Given the description of an element on the screen output the (x, y) to click on. 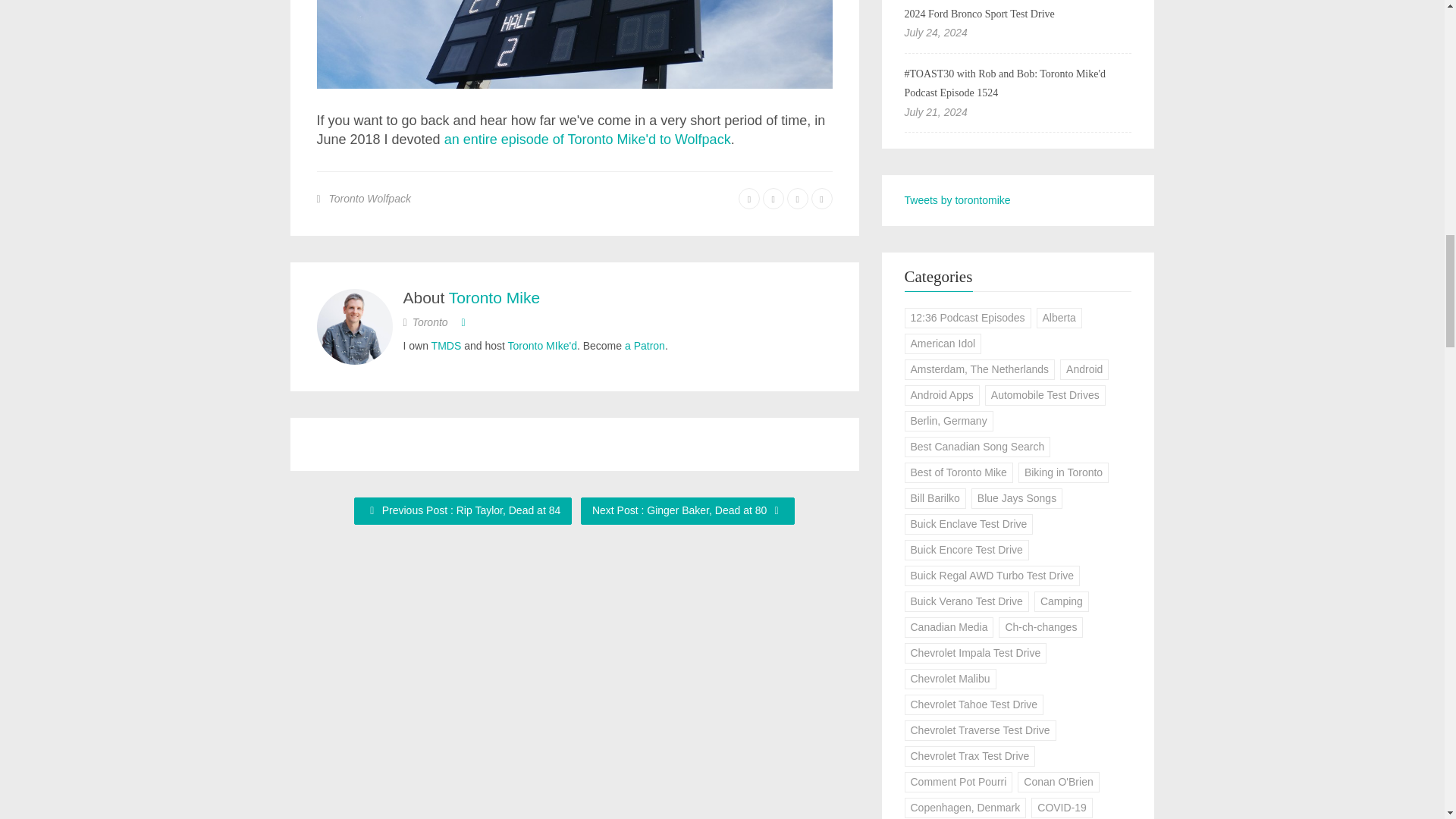
Buick Encore Test Drive (965, 549)
Chevrolet Trax Test Drive (969, 756)
Copenhagen, Denmark (965, 807)
12:36 Podcast Episodes (967, 317)
Conan O'Brien (1058, 782)
American Idol (942, 343)
Previous Post : Rip Taylor, Dead at 84 (462, 510)
Best of Toronto Mike (957, 472)
Chevrolet Malibu (949, 679)
Berlin, Germany (948, 421)
Best Canadian Song Search (976, 446)
Buick Regal AWD Turbo Test Drive (992, 575)
Automobile Test Drives (1045, 394)
Chevrolet Tahoe Test Drive (973, 704)
Canadian Media (948, 627)
